Given the description of an element on the screen output the (x, y) to click on. 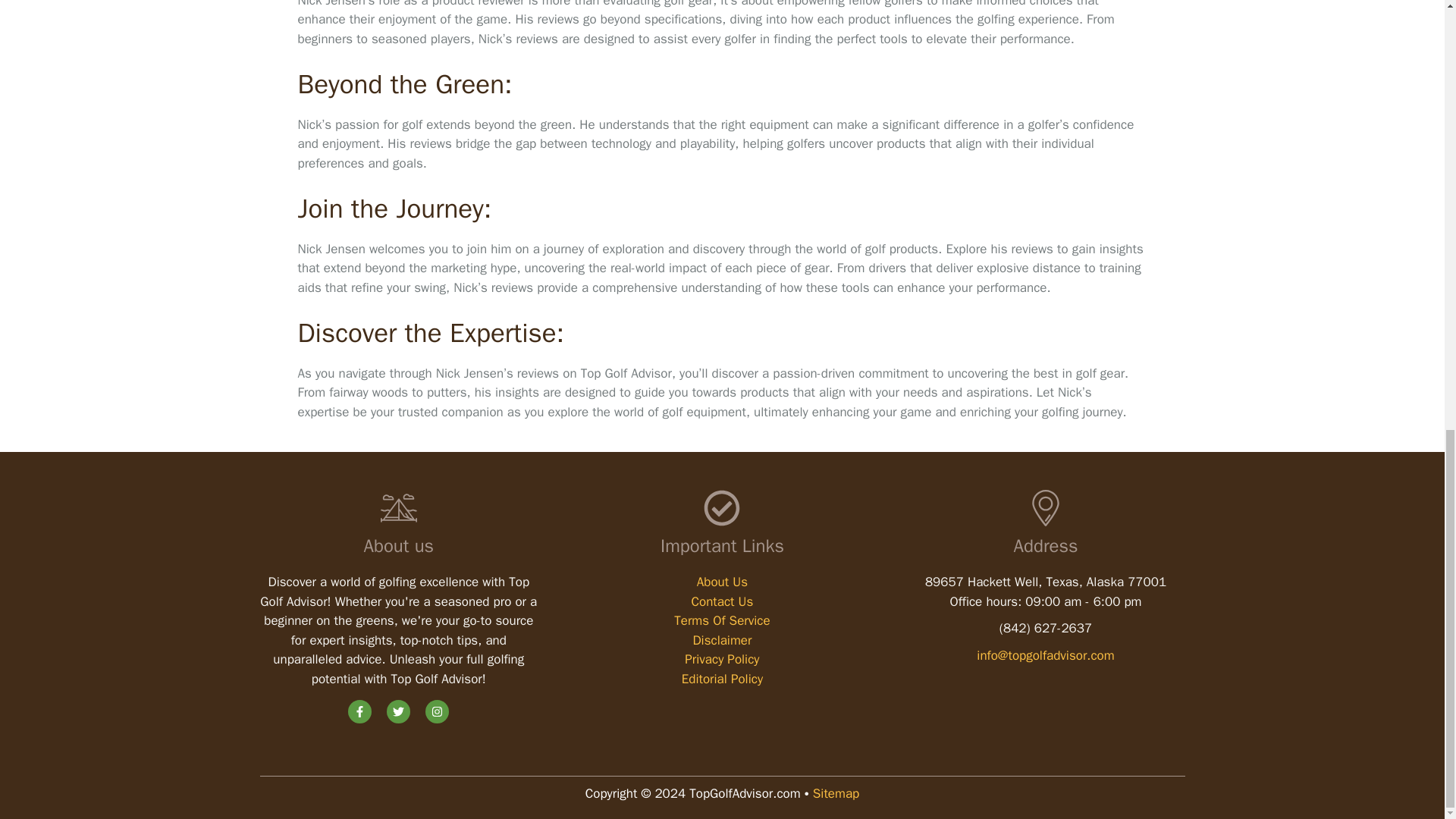
Privacy Policy (721, 659)
Editorial Policy (721, 678)
Terms Of Service (722, 620)
Contact Us (721, 601)
Sitemap (835, 793)
Disclaimer (722, 640)
About Us (722, 581)
